Given the description of an element on the screen output the (x, y) to click on. 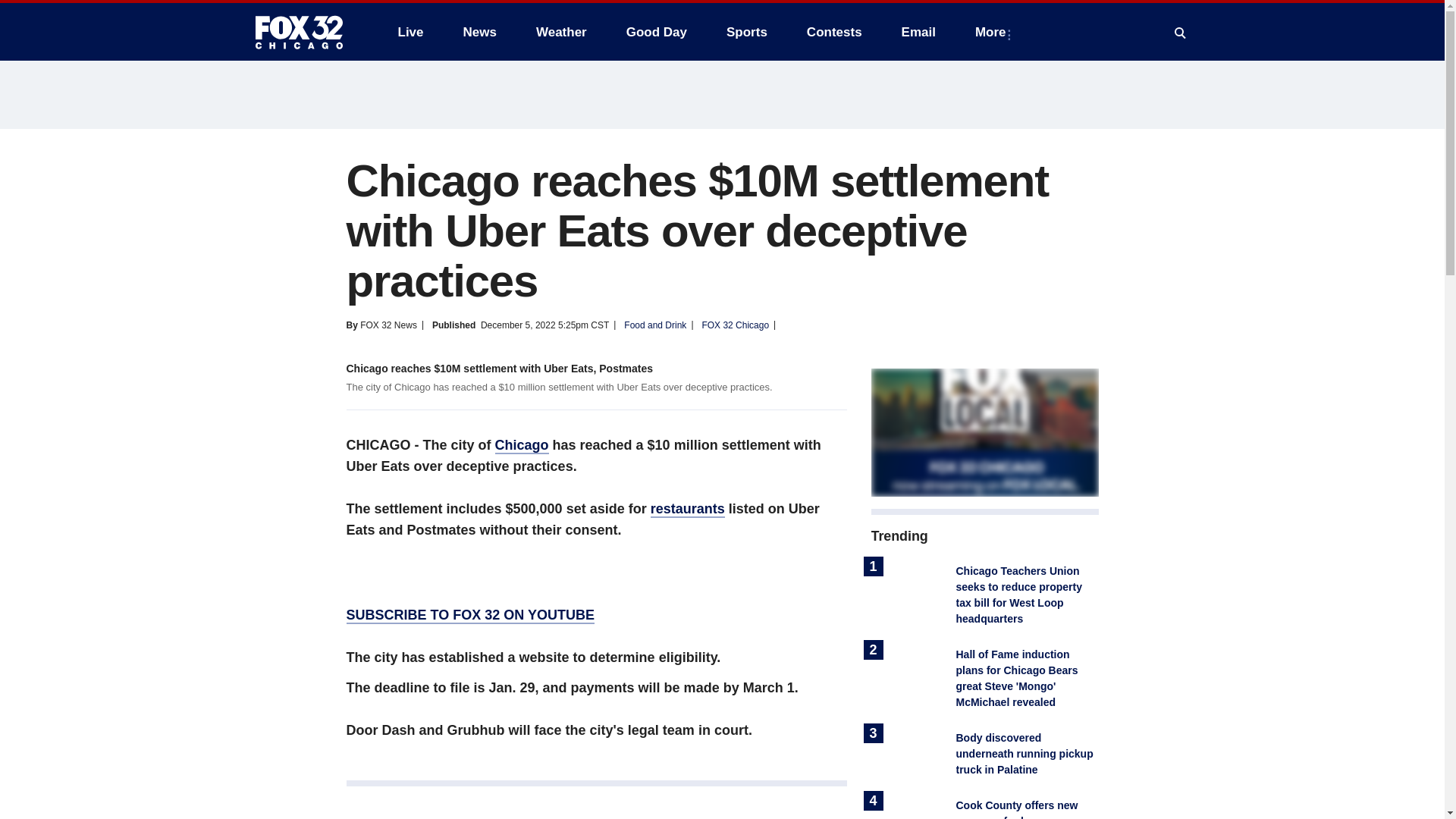
Contests (834, 32)
More (993, 32)
Live (410, 32)
Good Day (656, 32)
Email (918, 32)
News (479, 32)
Weather (561, 32)
Sports (746, 32)
